Given the description of an element on the screen output the (x, y) to click on. 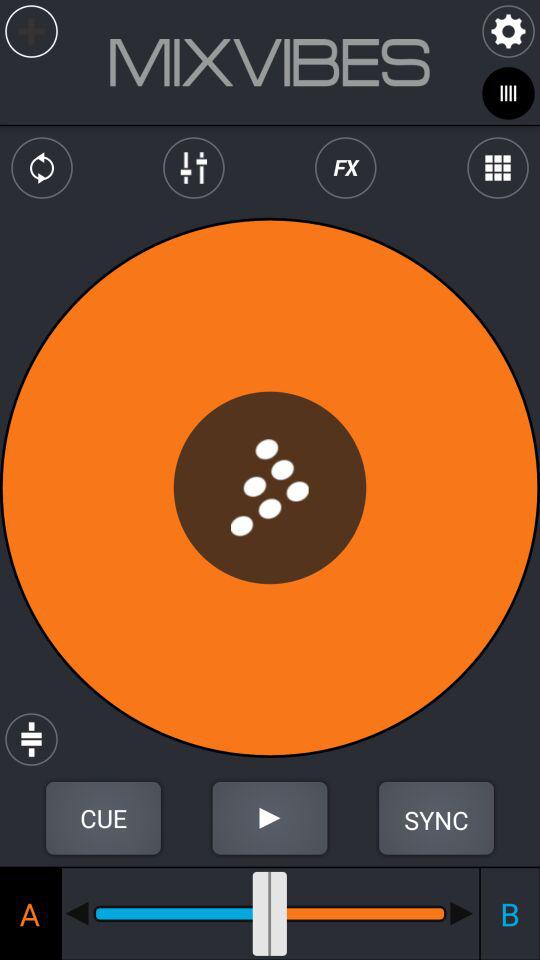
cue button (103, 818)
